Given the description of an element on the screen output the (x, y) to click on. 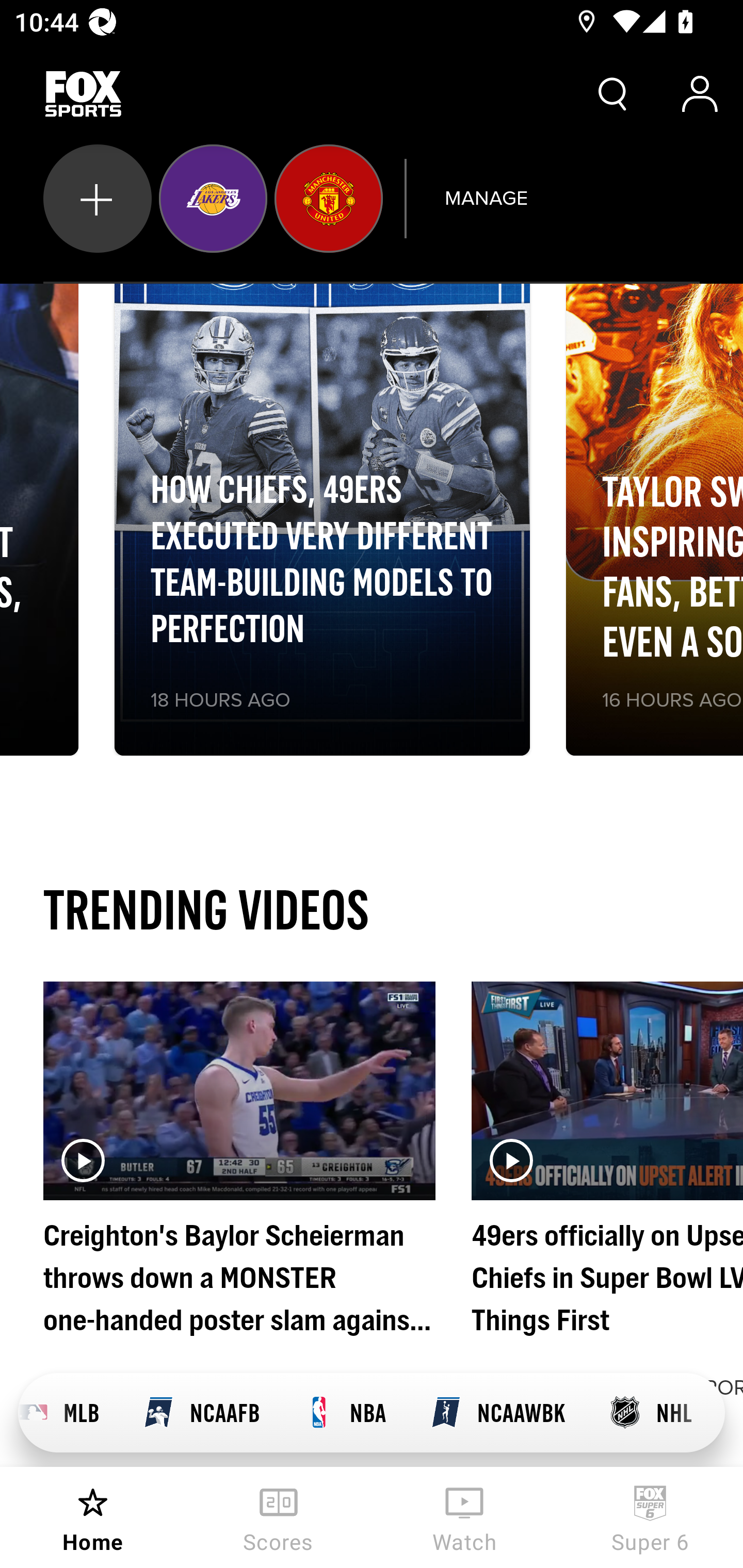
Search (612, 93)
Account (699, 93)
MANAGE (485, 198)
NCAAFB (200, 1412)
NBA (343, 1412)
NCAAWBK (496, 1412)
NHL (649, 1412)
Scores (278, 1517)
Watch (464, 1517)
Super 6 (650, 1517)
